Given the description of an element on the screen output the (x, y) to click on. 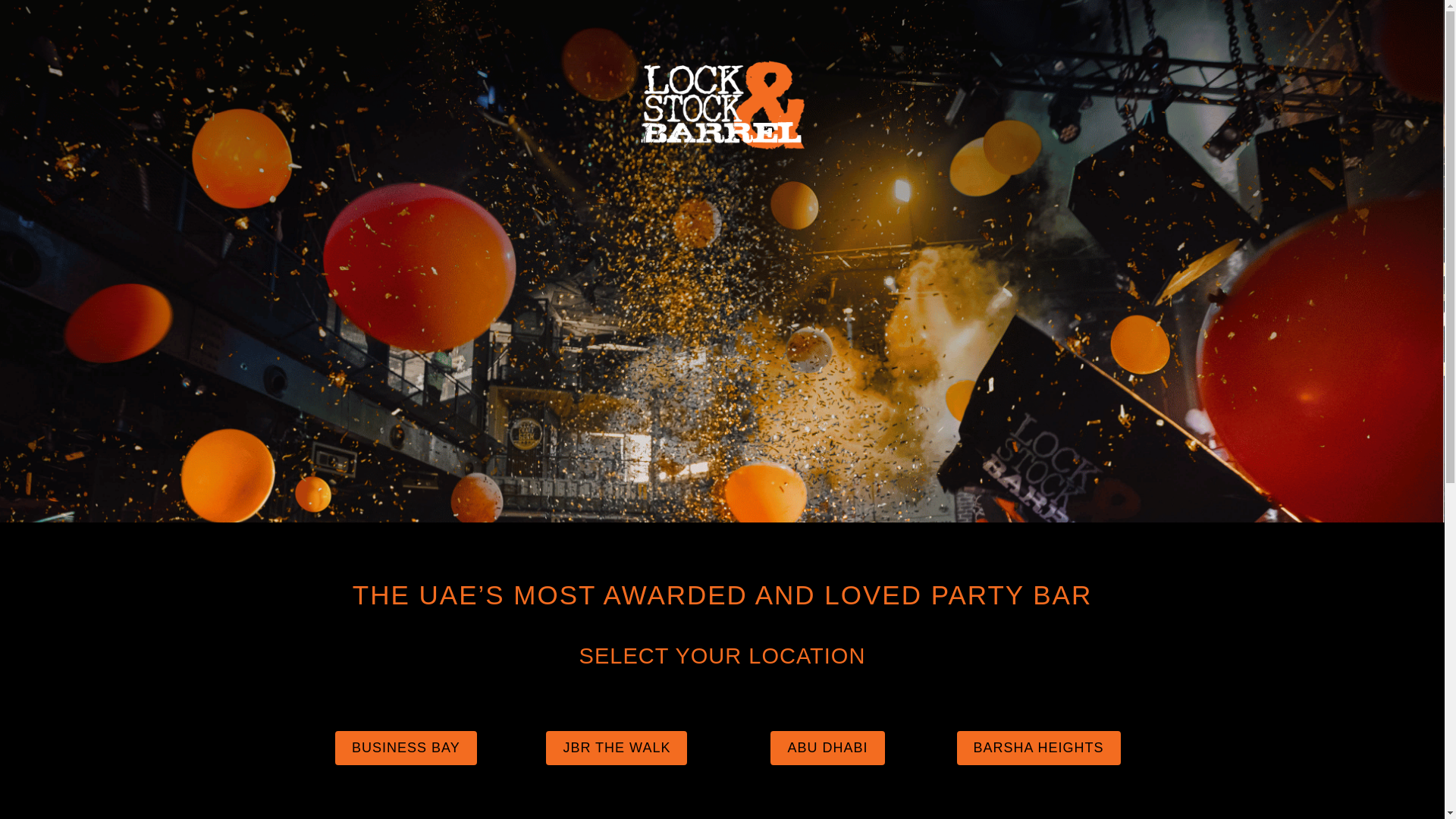
BARSHA HEIGHTS (1038, 747)
BUSINESS BAY (405, 747)
ABU DHABI (826, 747)
JBR THE WALK (616, 747)
